Given the description of an element on the screen output the (x, y) to click on. 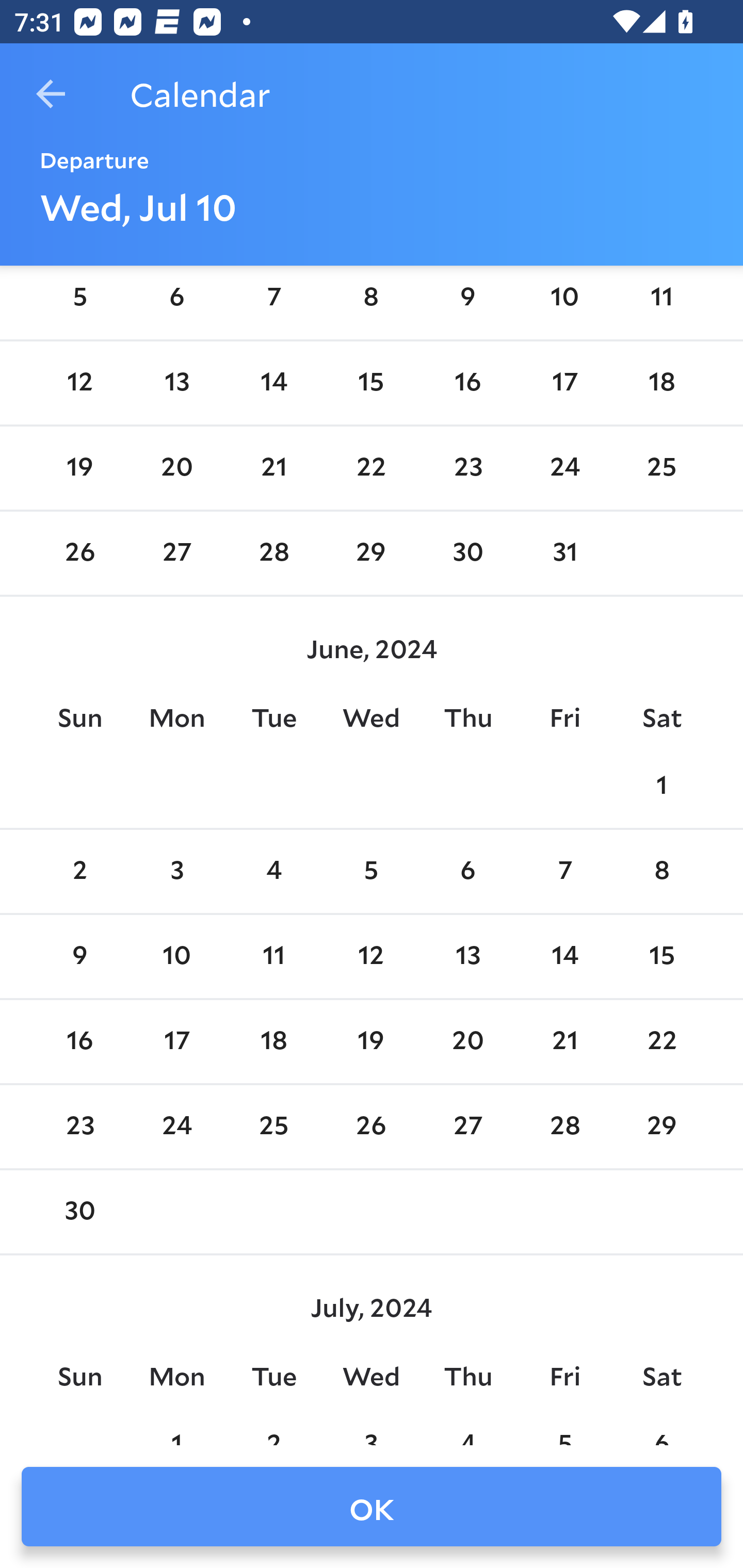
Navigate up (50, 93)
5 (79, 298)
6 (177, 298)
7 (273, 298)
8 (371, 298)
9 (467, 298)
10 (565, 298)
11 (661, 298)
12 (79, 382)
13 (177, 382)
14 (273, 382)
15 (371, 382)
16 (467, 382)
17 (565, 382)
18 (661, 382)
19 (79, 468)
20 (177, 468)
21 (273, 468)
22 (371, 468)
23 (467, 468)
24 (565, 468)
25 (661, 468)
26 (79, 553)
27 (177, 553)
28 (273, 553)
29 (371, 553)
30 (467, 553)
31 (565, 553)
1 (661, 787)
2 (79, 871)
3 (177, 871)
4 (273, 871)
5 (371, 871)
6 (467, 871)
7 (565, 871)
8 (661, 871)
9 (79, 956)
10 (177, 956)
11 (273, 956)
12 (371, 956)
13 (467, 956)
14 (565, 956)
15 (661, 956)
16 (79, 1041)
17 (177, 1041)
18 (273, 1041)
19 (371, 1041)
20 (467, 1041)
21 (565, 1041)
22 (661, 1041)
